Given the description of an element on the screen output the (x, y) to click on. 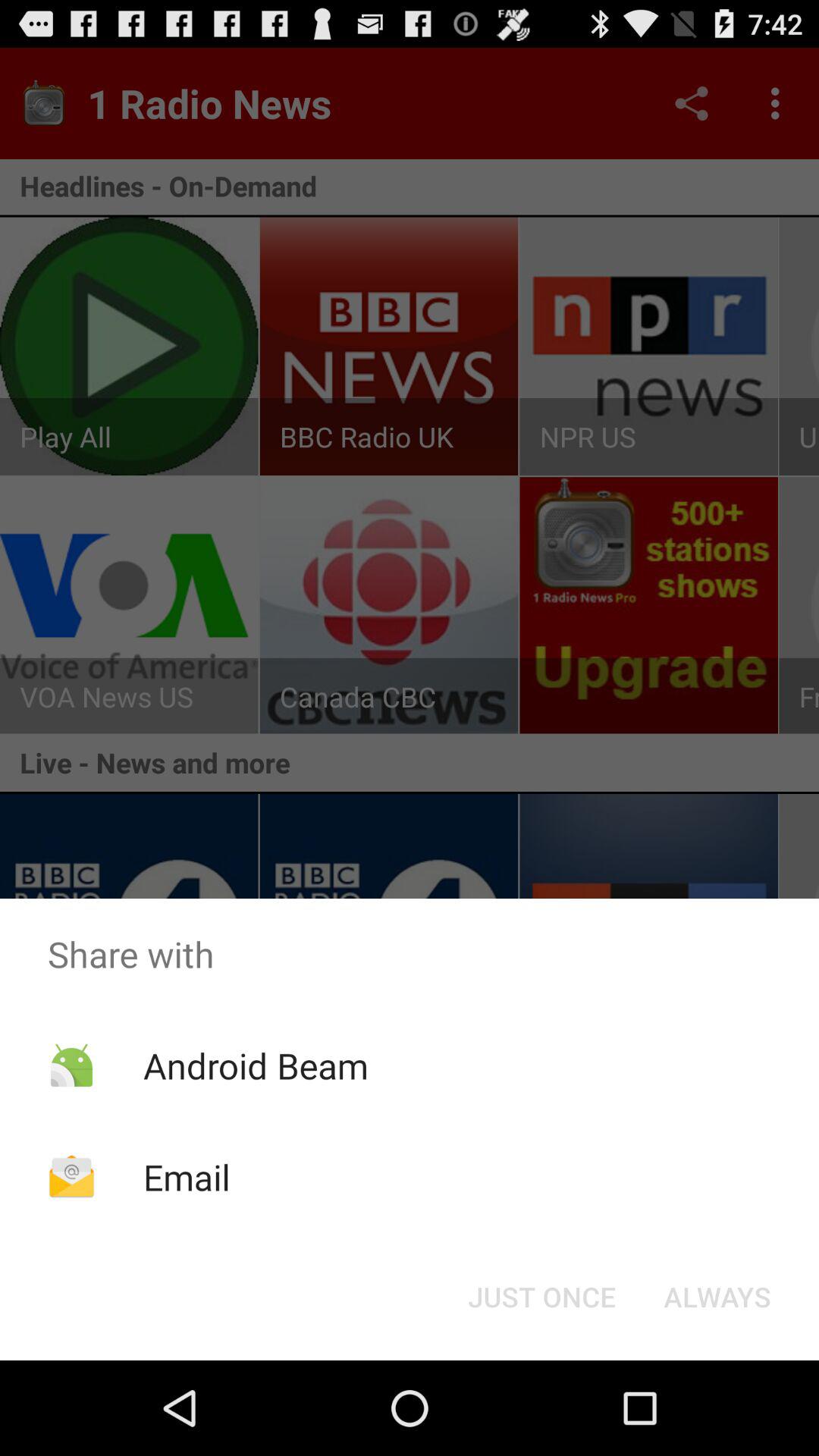
click the icon below the android beam item (186, 1176)
